Given the description of an element on the screen output the (x, y) to click on. 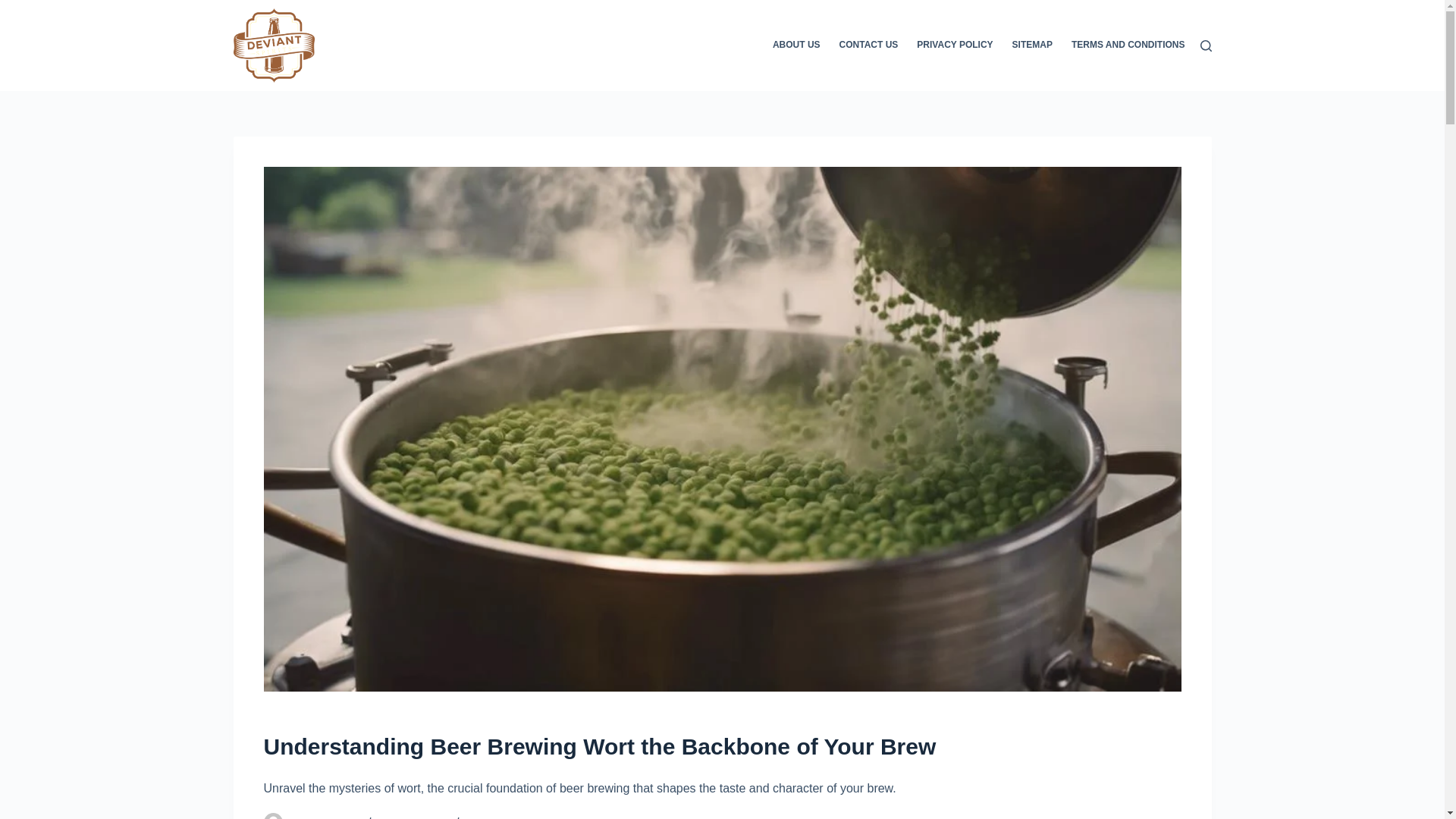
CRAFT BEER (494, 818)
TERMS AND CONDITIONS (1123, 45)
Posts by Deviant Spirit (325, 818)
Skip to content (15, 7)
DEVIANT SPIRIT (325, 818)
Understanding Beer Brewing Wort the Backbone of Your Brew (721, 746)
PRIVACY POLICY (955, 45)
